Given the description of an element on the screen output the (x, y) to click on. 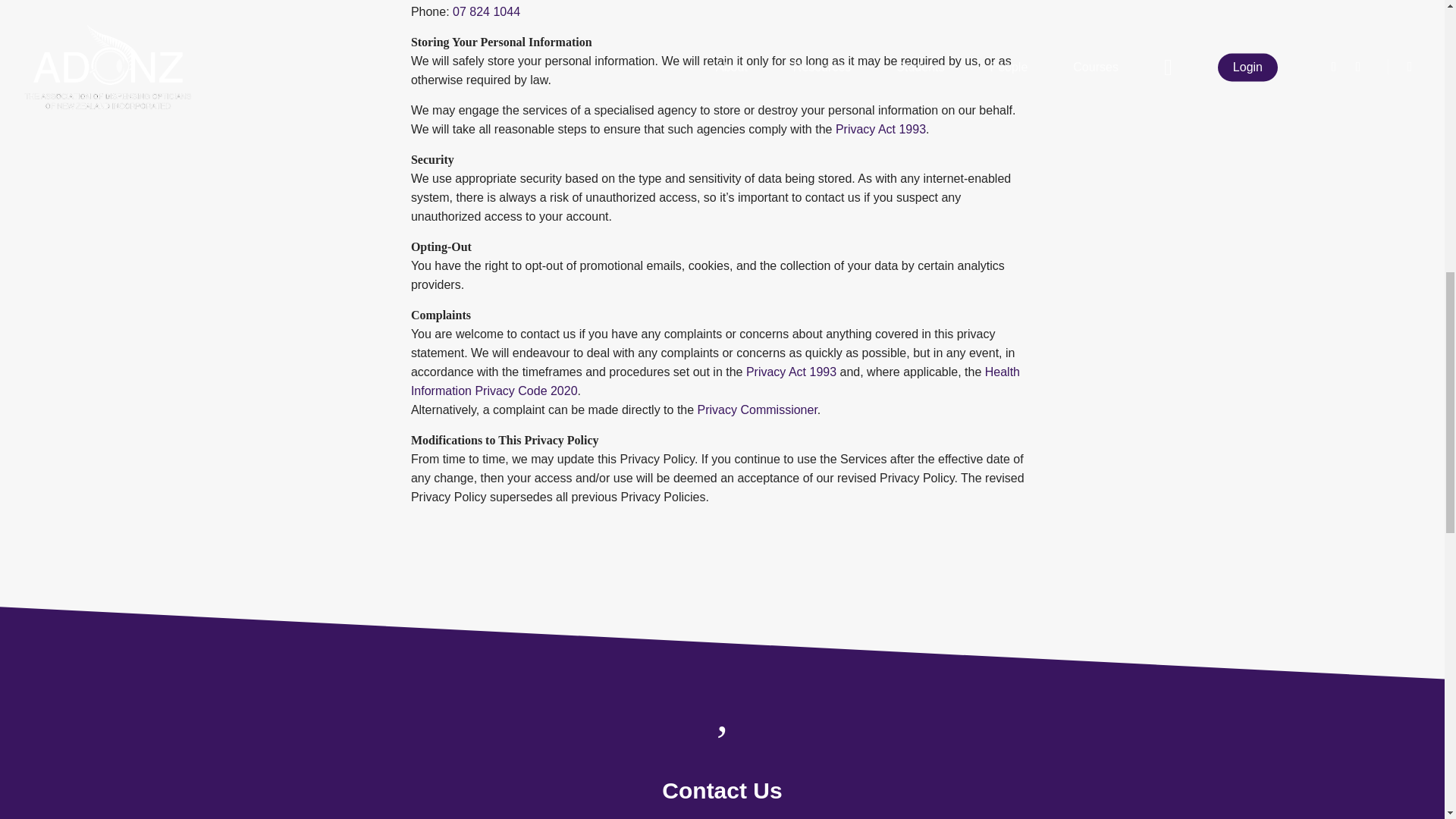
Privacy Act 1993 (790, 371)
Privacy Act 1993 (880, 128)
Privacy Commissioner (756, 409)
Health Information Privacy Code 2020 (715, 381)
07 824 1044 (485, 11)
